Given the description of an element on the screen output the (x, y) to click on. 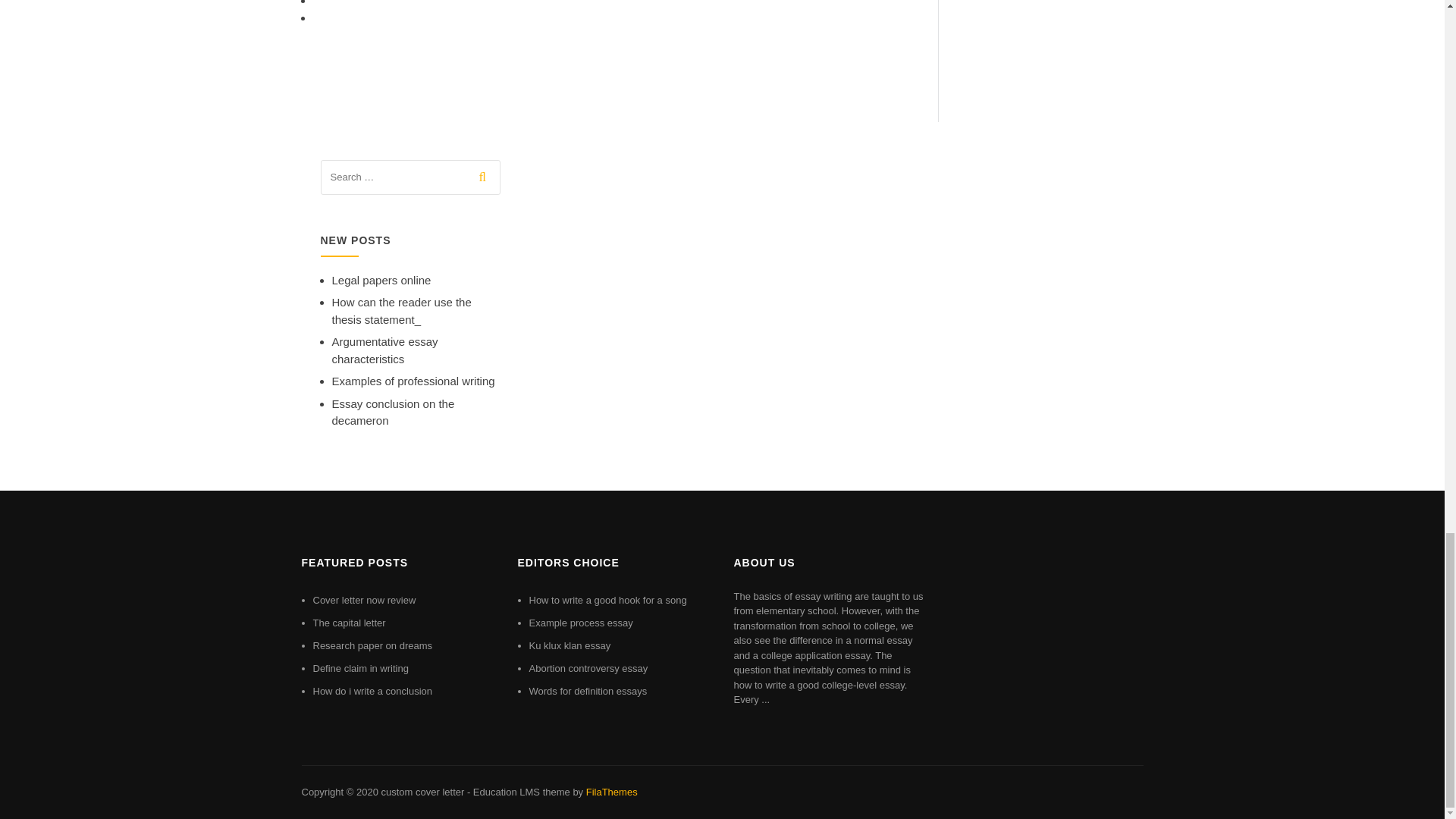
Define claim in writing (360, 668)
Words for definition essays (588, 690)
Research paper on dreams (372, 645)
Ku klux klan essay (570, 645)
How do i write a conclusion (372, 690)
custom cover letter (422, 791)
How to write a good hook for a song (608, 600)
Essay conclusion on the decameron (392, 412)
Legal papers online (380, 279)
The capital letter (349, 622)
